Given the description of an element on the screen output the (x, y) to click on. 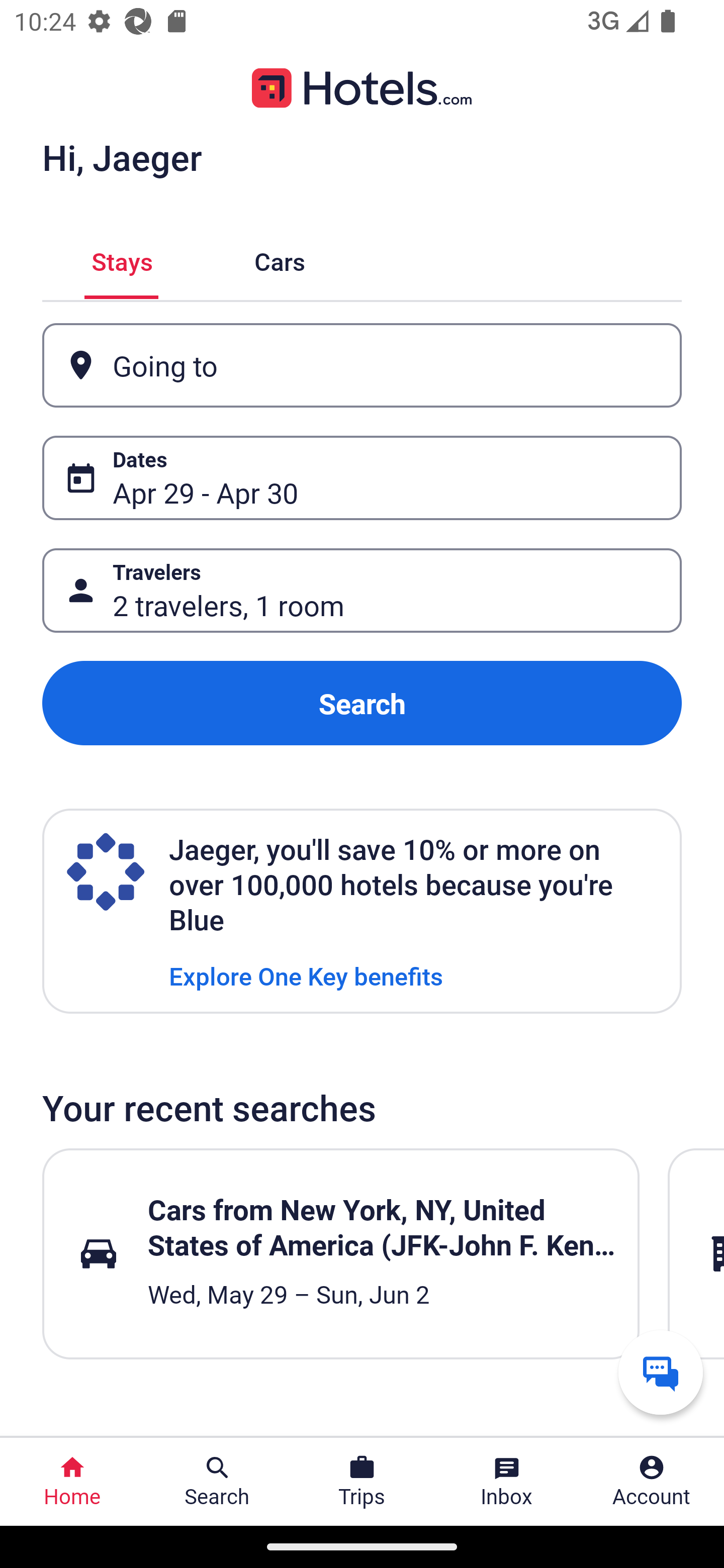
Hi, Jaeger (121, 156)
Cars (279, 259)
Going to Button (361, 365)
Dates Button Apr 29 - Apr 30 (361, 477)
Travelers Button 2 travelers, 1 room (361, 590)
Search (361, 702)
Get help from a virtual agent (660, 1371)
Search Search Button (216, 1481)
Trips Trips Button (361, 1481)
Inbox Inbox Button (506, 1481)
Account Profile. Button (651, 1481)
